Given the description of an element on the screen output the (x, y) to click on. 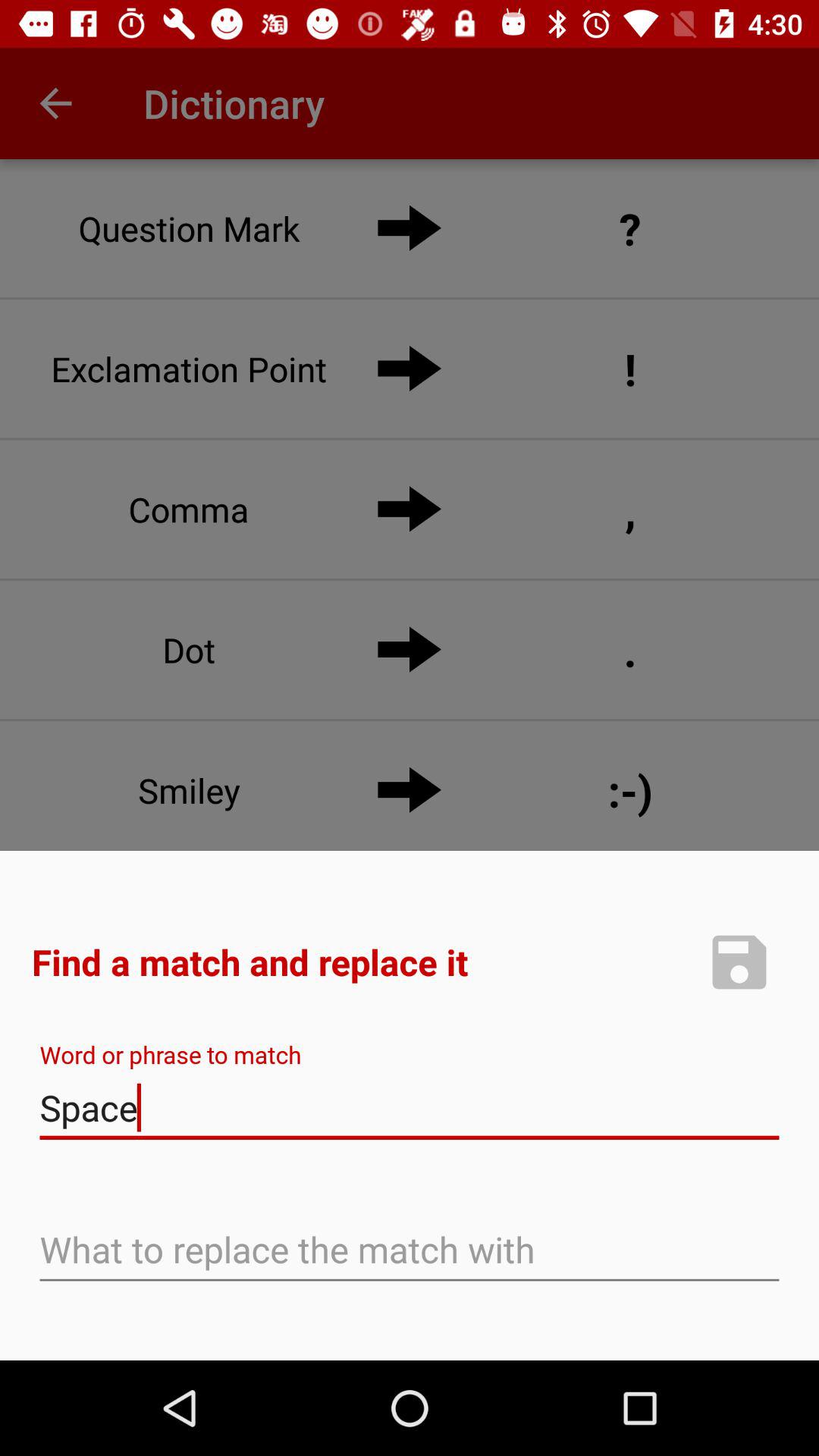
save the new replace (739, 962)
